Given the description of an element on the screen output the (x, y) to click on. 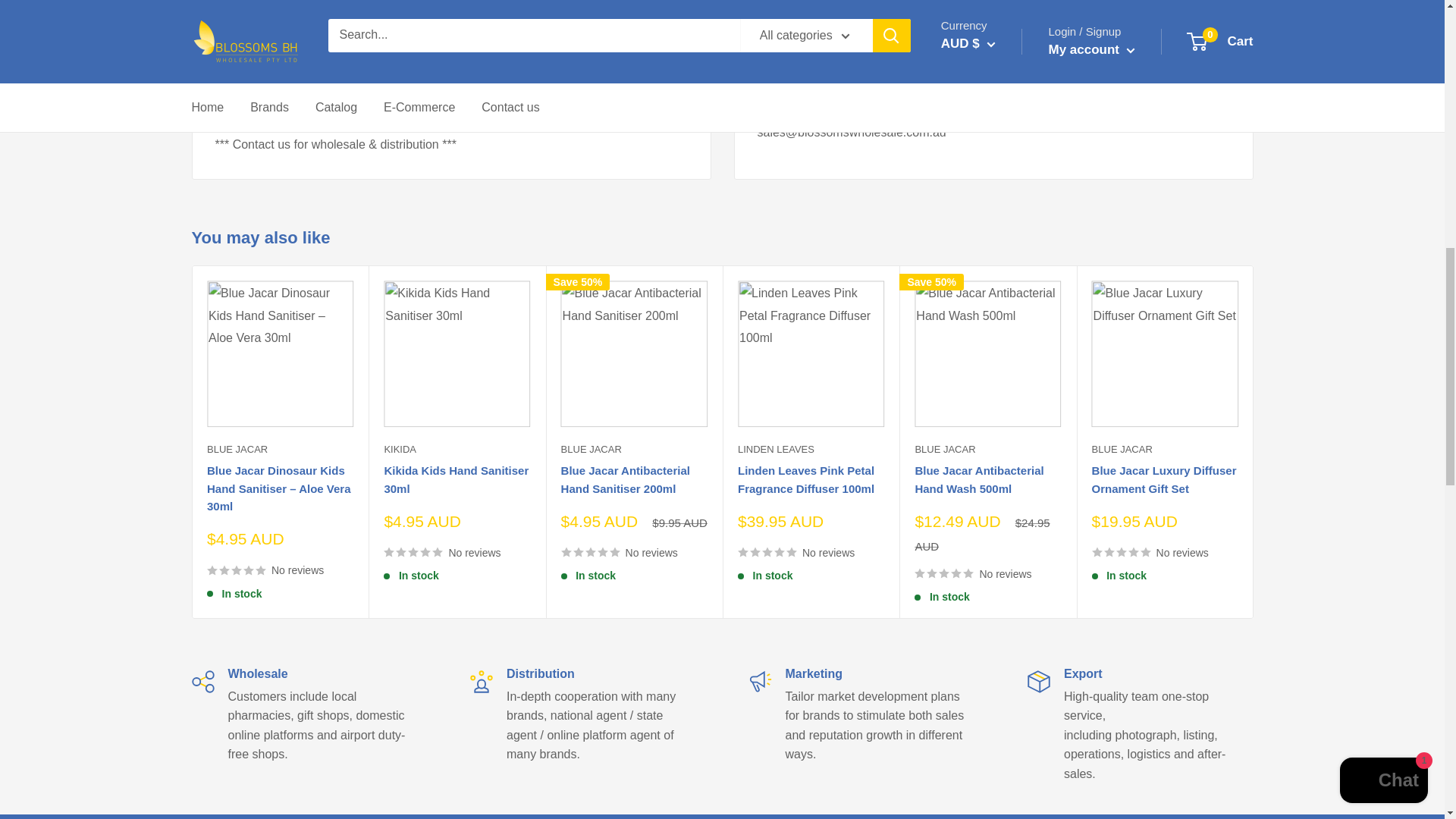
CZK (991, 1)
